Given the description of an element on the screen output the (x, y) to click on. 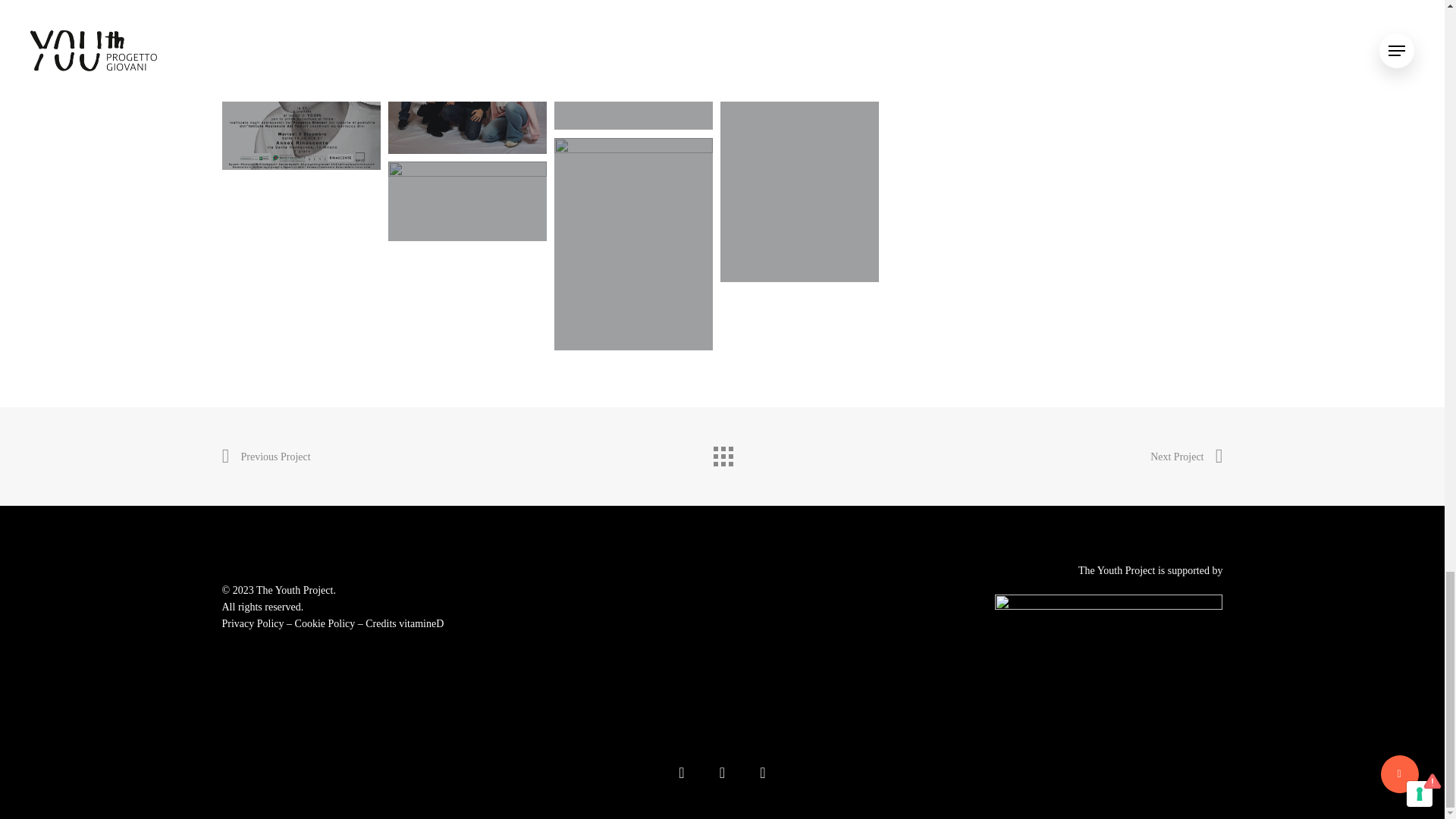
Next Project (1186, 456)
vitamineD (421, 623)
Cookie Policy (325, 623)
Privacy Policy (252, 623)
Previous Project (265, 456)
Back to all projects (721, 452)
